Given the description of an element on the screen output the (x, y) to click on. 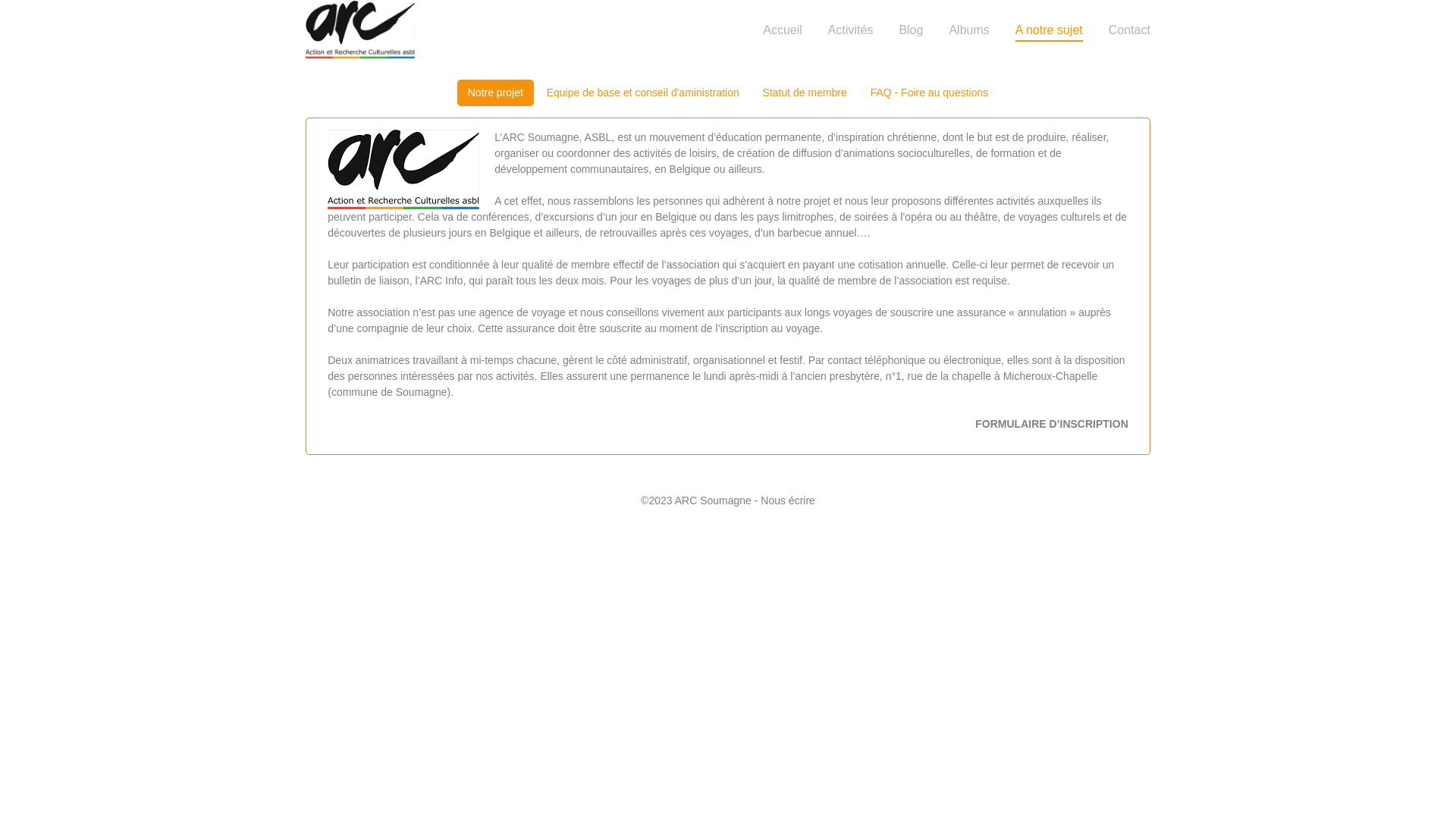
Contact Element type: text (1129, 29)
Blog Element type: text (910, 29)
Albums Element type: text (968, 29)
Accueil Element type: text (782, 29)
Notre projet Element type: text (495, 92)
A notre sujet Element type: text (1048, 32)
FAQ - Foire au questions Element type: text (929, 92)
Equipe de base et conseil d'aministration Element type: text (642, 92)
Statut de membre Element type: text (804, 92)
